Given the description of an element on the screen output the (x, y) to click on. 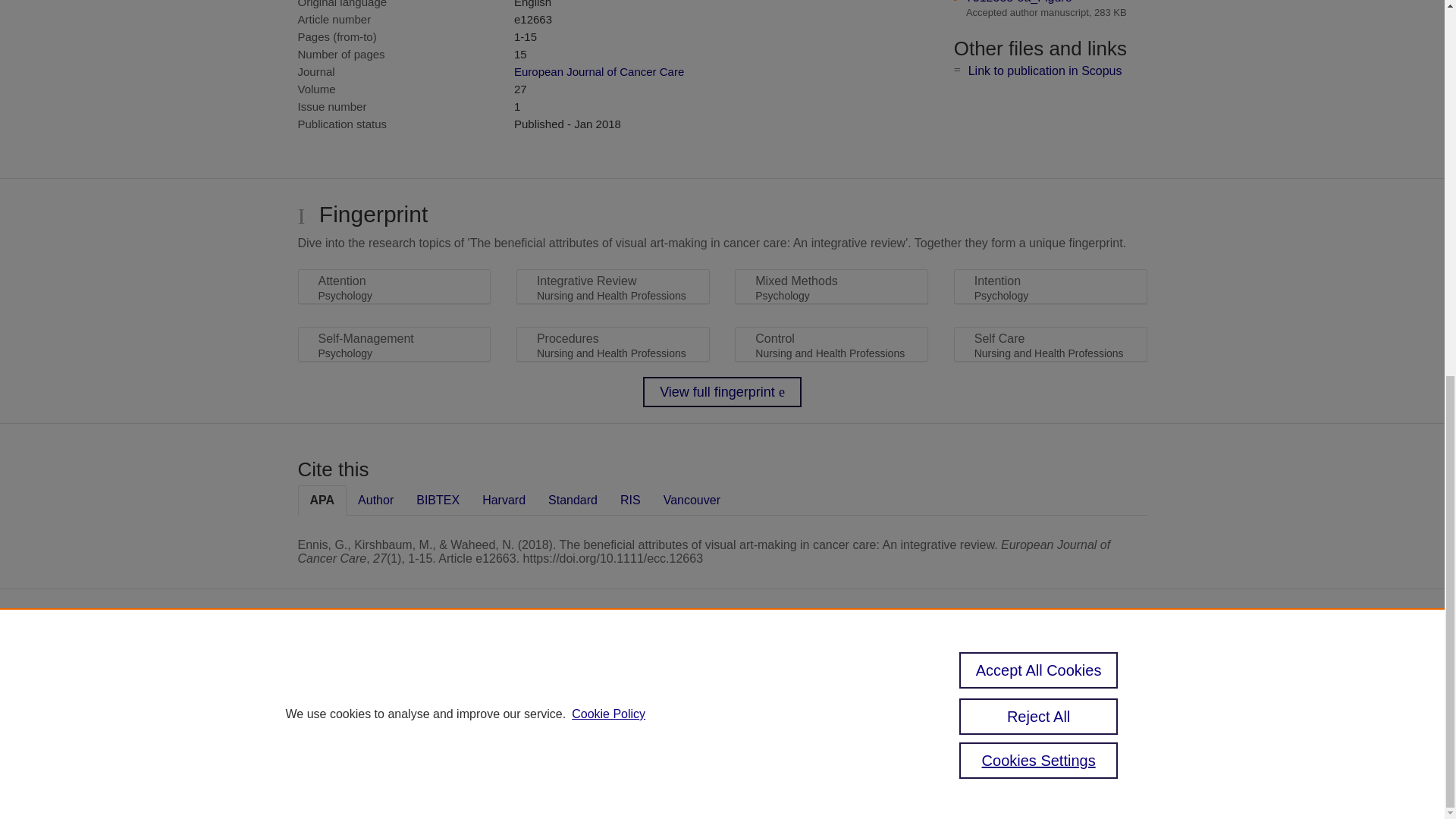
Link to publication in Scopus (1045, 70)
View full fingerprint (722, 391)
European Journal of Cancer Care (598, 71)
Elsevier B.V. (745, 685)
Scopus (633, 664)
Cookies Settings (574, 760)
use of cookies (595, 739)
About web accessibility (1033, 670)
Log in to Pure (567, 781)
Pure (602, 664)
